Given the description of an element on the screen output the (x, y) to click on. 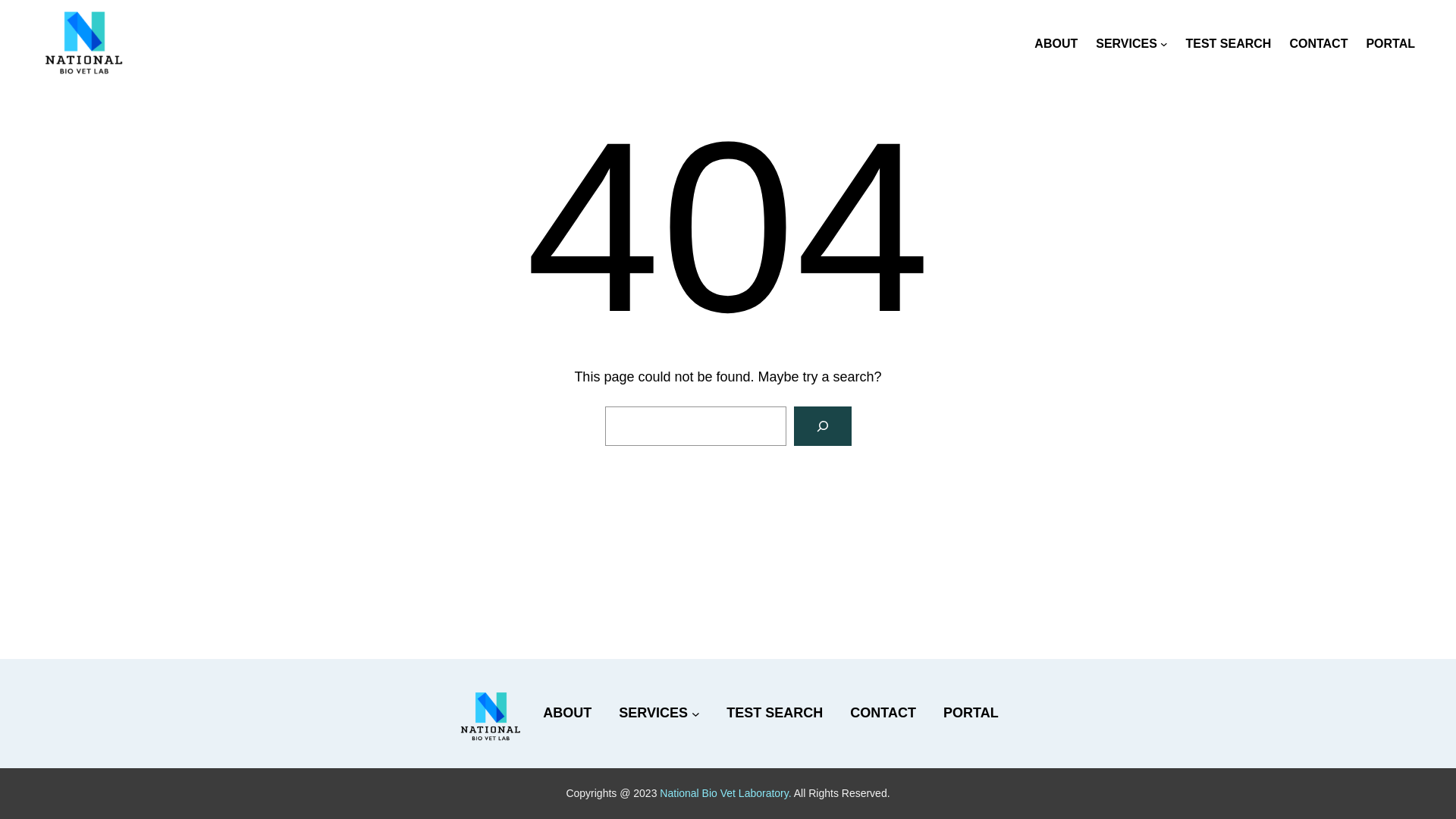
ABOUT Element type: text (566, 713)
SERVICES Element type: text (652, 713)
PORTAL Element type: text (1390, 43)
PORTAL Element type: text (970, 713)
TEST SEARCH Element type: text (1227, 43)
ABOUT Element type: text (1055, 43)
CONTACT Element type: text (883, 713)
CONTACT Element type: text (1318, 43)
SERVICES Element type: text (1126, 43)
TEST SEARCH Element type: text (774, 713)
